Given the description of an element on the screen output the (x, y) to click on. 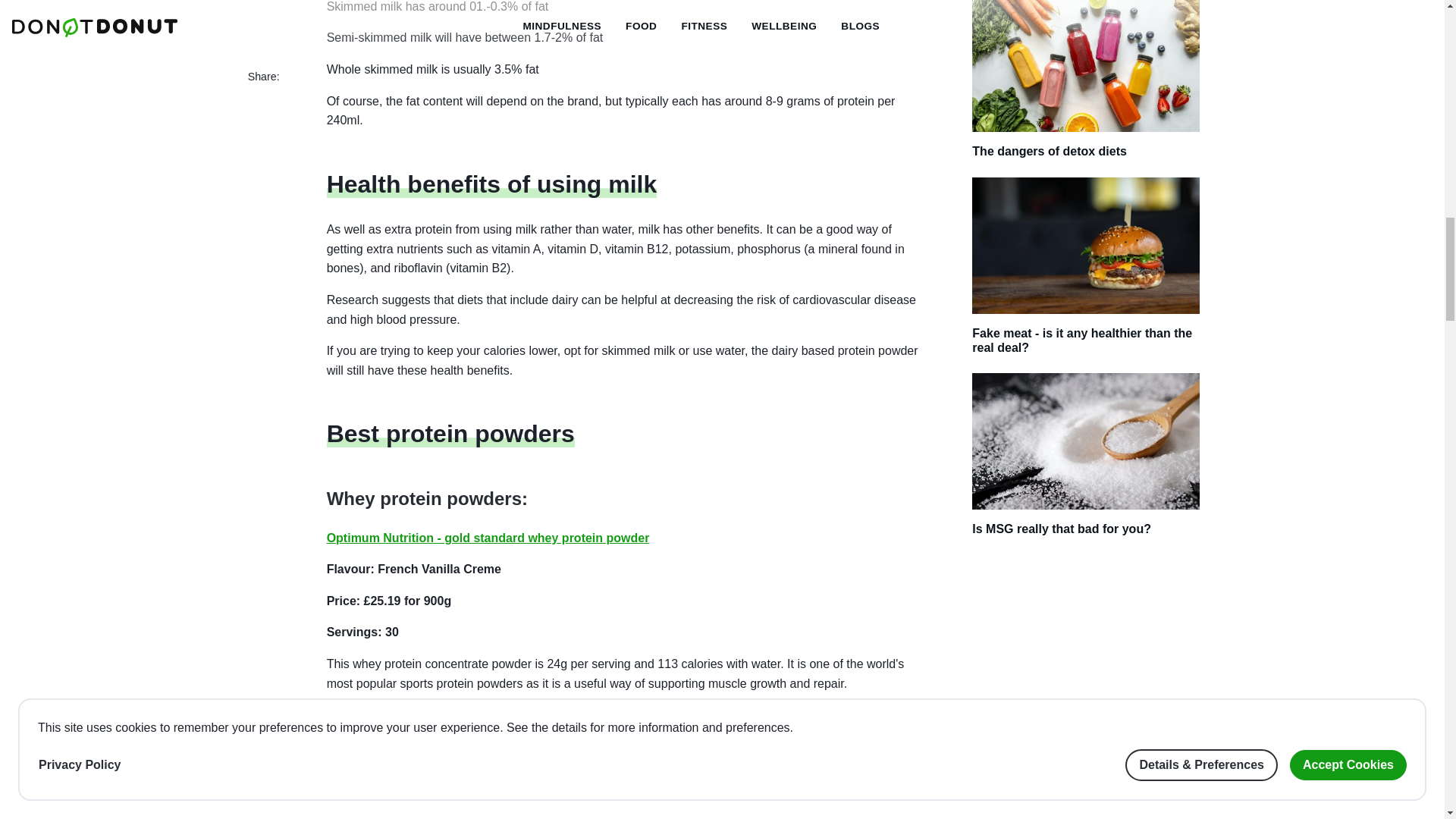
Fake meat - is it any healthier than the real deal? (1085, 275)
Optimum Nutrition - gold standard whey protein powder (487, 537)
Is MSG really that bad for you? (1085, 463)
The dangers of detox diets (1085, 88)
